Given the description of an element on the screen output the (x, y) to click on. 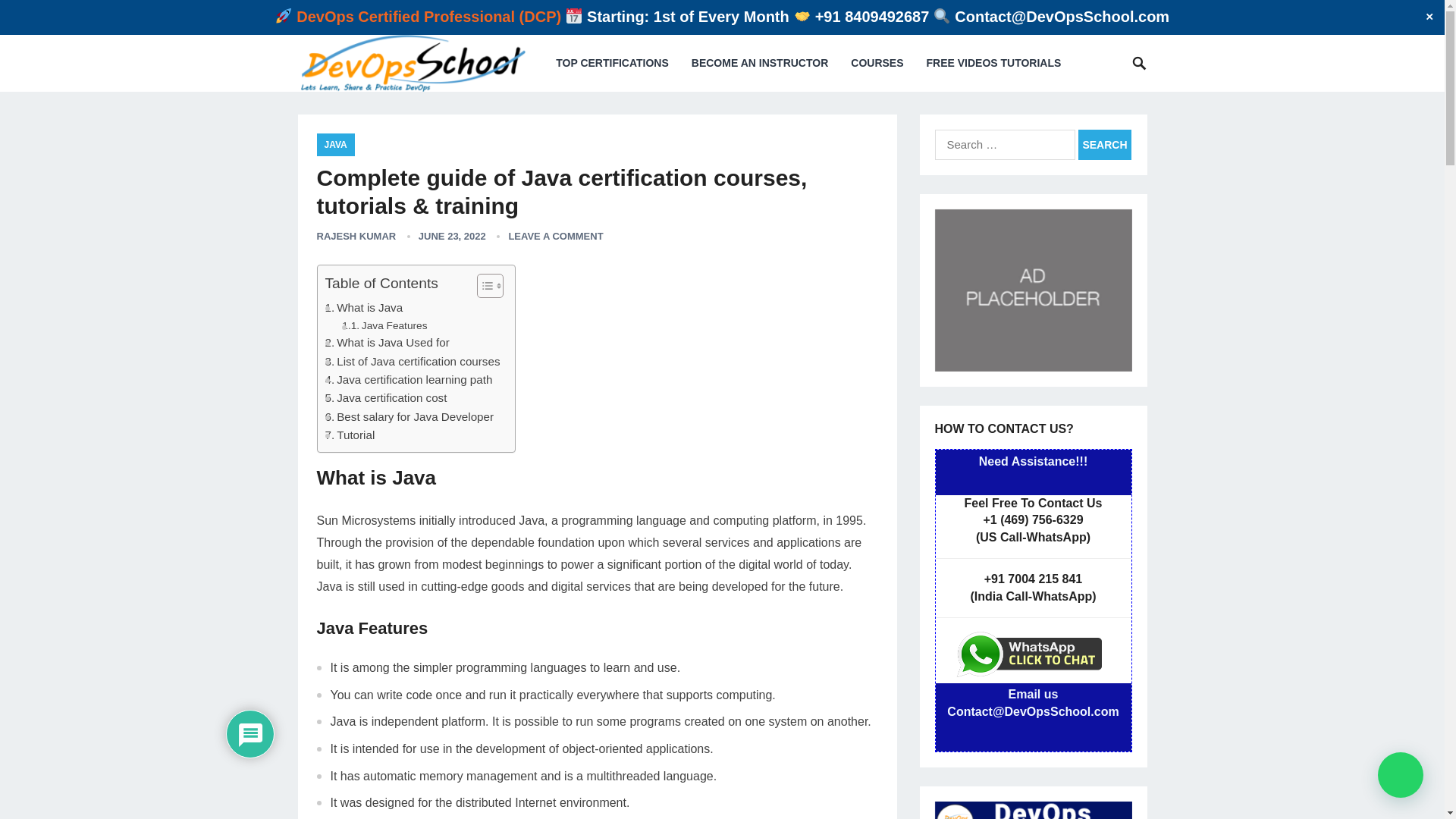
BECOME AN INSTRUCTOR (759, 63)
Tutorial (349, 434)
What is Java Used for (386, 342)
View all posts in Java (336, 144)
TOP CERTIFICATIONS (611, 63)
Java certification learning path (408, 380)
Java certification cost (385, 398)
What is Java (363, 307)
Tutorial (349, 434)
RAJESH KUMAR (356, 235)
Java certification learning path (408, 380)
Best salary for Java Developer (408, 416)
List of Java certification courses (411, 361)
What is Java (363, 307)
Best salary for Java Developer (408, 416)
